Given the description of an element on the screen output the (x, y) to click on. 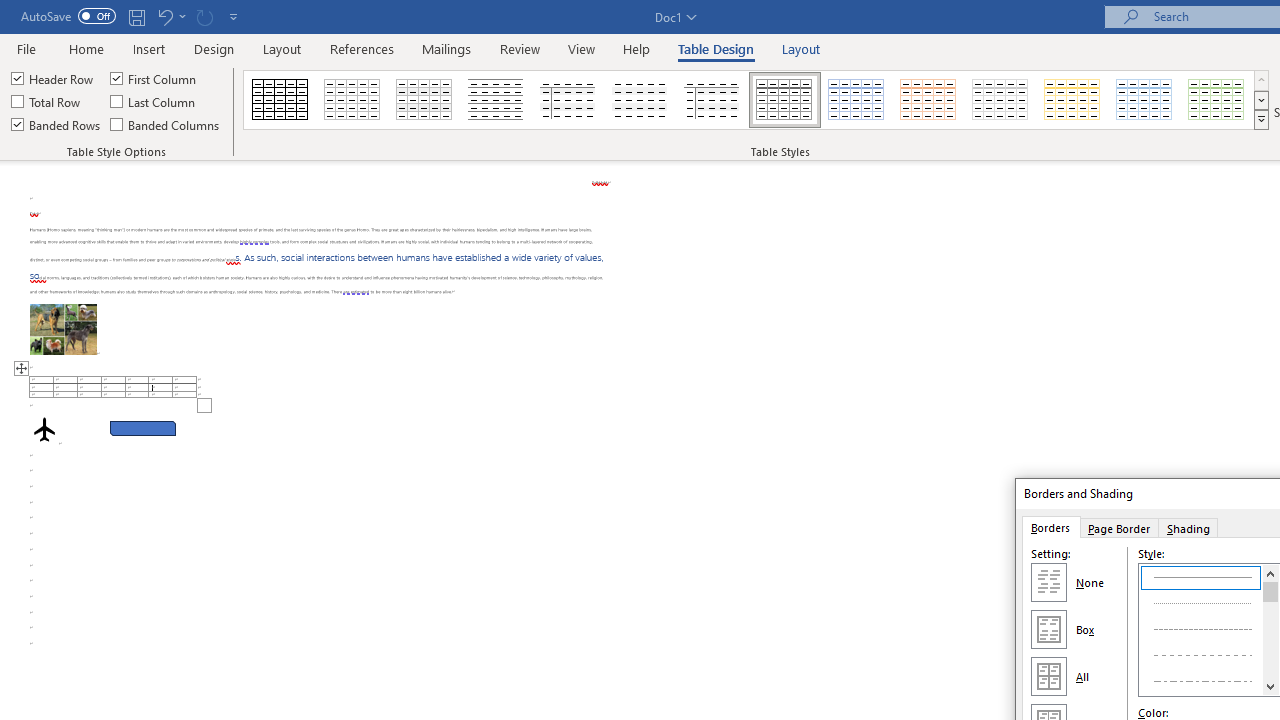
Header Row (53, 78)
Line up (1270, 573)
Morphological variation in six dogs (63, 328)
Grid Table 1 Light - Accent 1 (856, 100)
First Column (155, 78)
Table Grid (280, 100)
Grid Table 1 Light - Accent 3 (1000, 100)
Grid Table 1 Light - Accent 2 (929, 100)
Can't Repeat (204, 15)
Airplane with solid fill (43, 429)
Undo Row Height Spinner (170, 15)
